Given the description of an element on the screen output the (x, y) to click on. 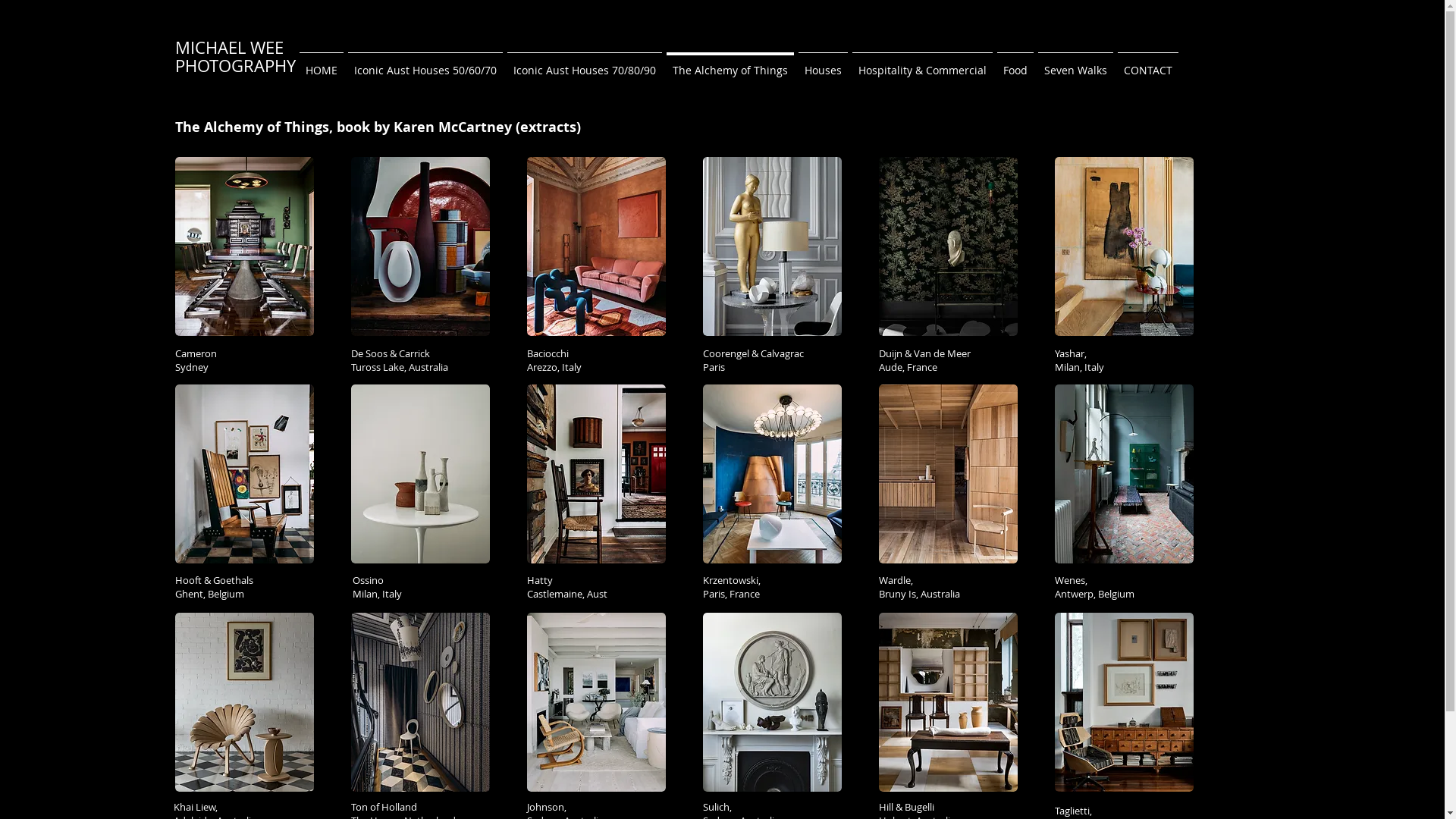
Hospitality & Commercial Element type: text (921, 63)
Murcutt_0720.jpg Element type: hover (419, 473)
CONTACT Element type: text (1146, 63)
Murcutt_0720.jpg Element type: hover (771, 473)
Seven Walks Element type: text (1075, 63)
Murcutt_0720.jpg Element type: hover (771, 701)
PHOTOGRAPHY Element type: text (234, 65)
Houses Element type: text (823, 63)
Murcutt_0720.jpg Element type: hover (595, 245)
Murcutt_0720.jpg Element type: hover (947, 701)
Murcutt_0720.jpg Element type: hover (1123, 245)
Murcutt_0720.jpg Element type: hover (947, 473)
Iconic Aust Houses 50/60/70 Element type: text (425, 63)
Murcutt_0720.jpg Element type: hover (771, 245)
Iconic Aust Houses 70/80/90 Element type: text (584, 63)
Murcutt_0720.jpg Element type: hover (1123, 473)
Murcutt_0720.jpg Element type: hover (1123, 701)
Murcutt_0720.jpg Element type: hover (243, 701)
Food Element type: text (1014, 63)
HOME Element type: text (321, 63)
Murcutt_0720.jpg Element type: hover (595, 701)
Murcutt_0720.jpg Element type: hover (947, 245)
Murcutt_0720.jpg Element type: hover (419, 245)
Murcutt_0720.jpg Element type: hover (243, 473)
Murcutt_0720.jpg Element type: hover (243, 245)
Murcutt_0720.jpg Element type: hover (419, 701)
Murcutt_0720.jpg Element type: hover (595, 473)
The Alchemy of Things Element type: text (730, 63)
